Given the description of an element on the screen output the (x, y) to click on. 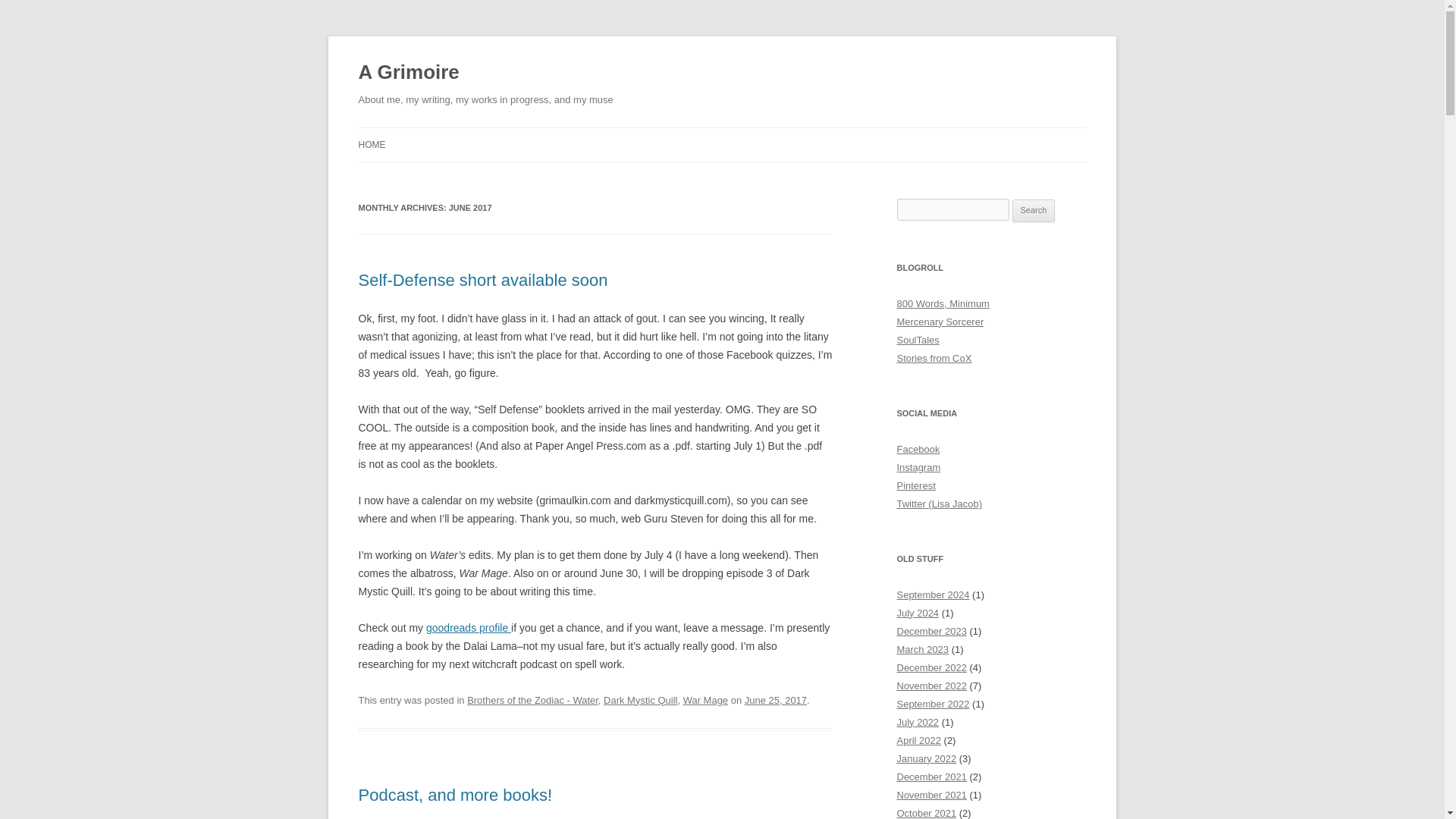
June 25, 2017 (775, 699)
September 2024 (932, 594)
Search (1033, 210)
A Grimoire (408, 72)
Stories from CoX (933, 357)
Brothers of the Zodiac - Water (532, 699)
July 2024 (917, 613)
800 Words, Minimum (942, 303)
Mercenary Sorcerer (940, 321)
